Given the description of an element on the screen output the (x, y) to click on. 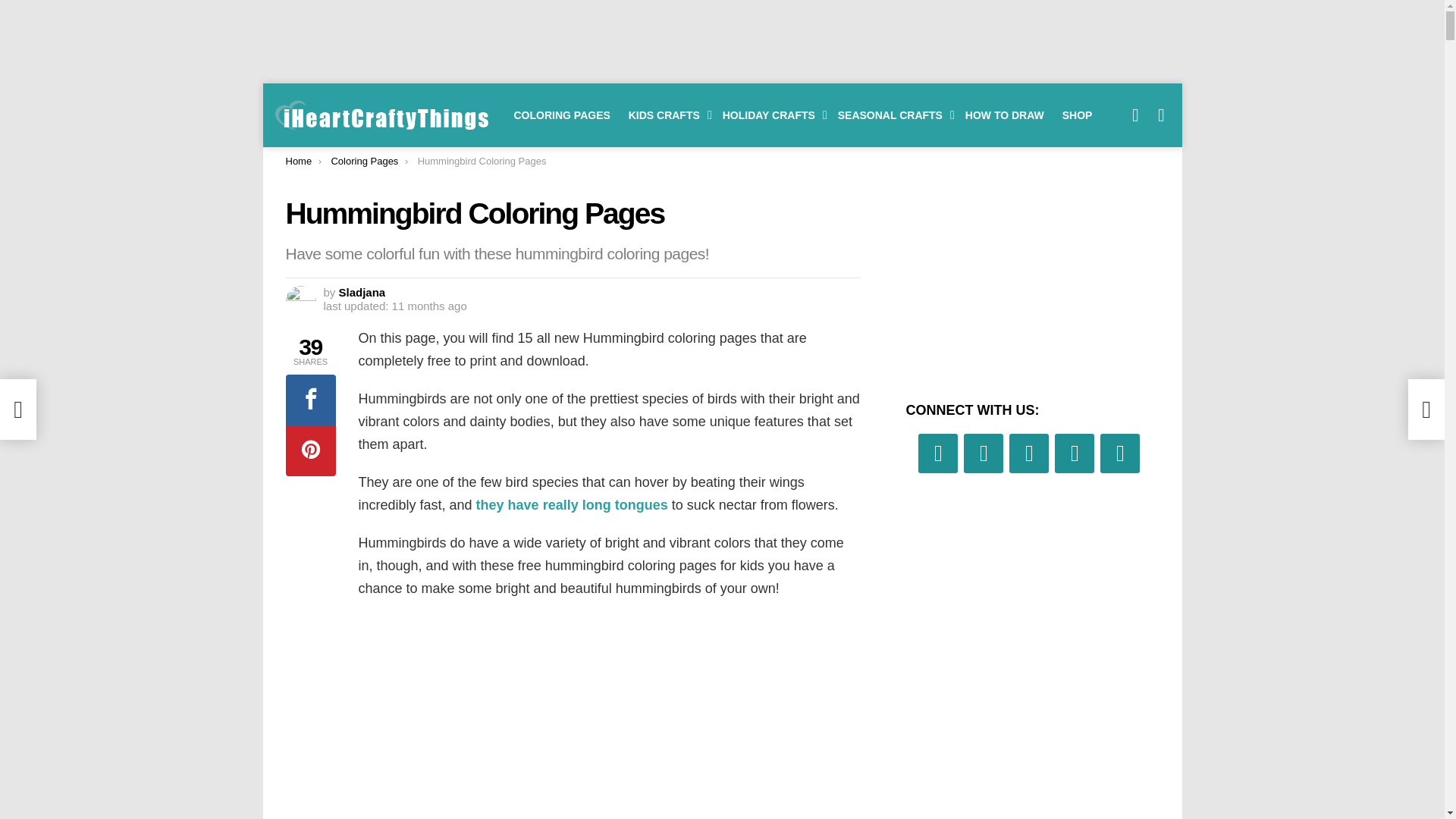
COLORING PAGES (561, 115)
Posts by Sladjana (362, 291)
HOW TO DRAW (1004, 115)
SHOP (1077, 115)
SEASONAL CRAFTS (892, 115)
KIDS CRAFTS (666, 115)
HOLIDAY CRAFTS (770, 115)
September 10, 2023, 12:32 AM (394, 305)
